Given the description of an element on the screen output the (x, y) to click on. 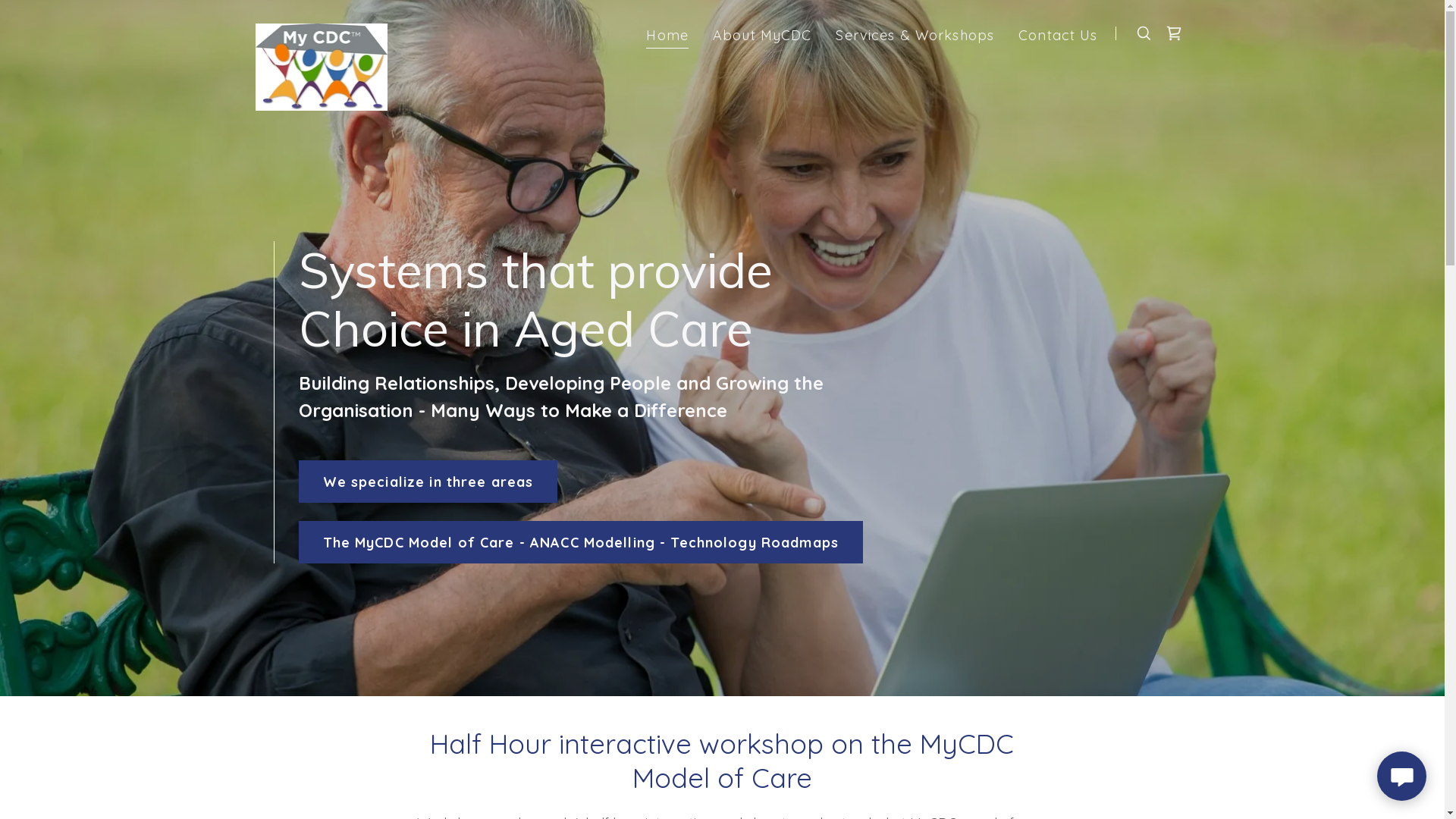
Home Element type: text (667, 36)
Services & Workshops Element type: text (914, 34)
MyCDC Element type: hover (320, 30)
About MyCDC Element type: text (761, 34)
Contact Us Element type: text (1057, 34)
We specialize in three areas Element type: text (428, 481)
